Given the description of an element on the screen output the (x, y) to click on. 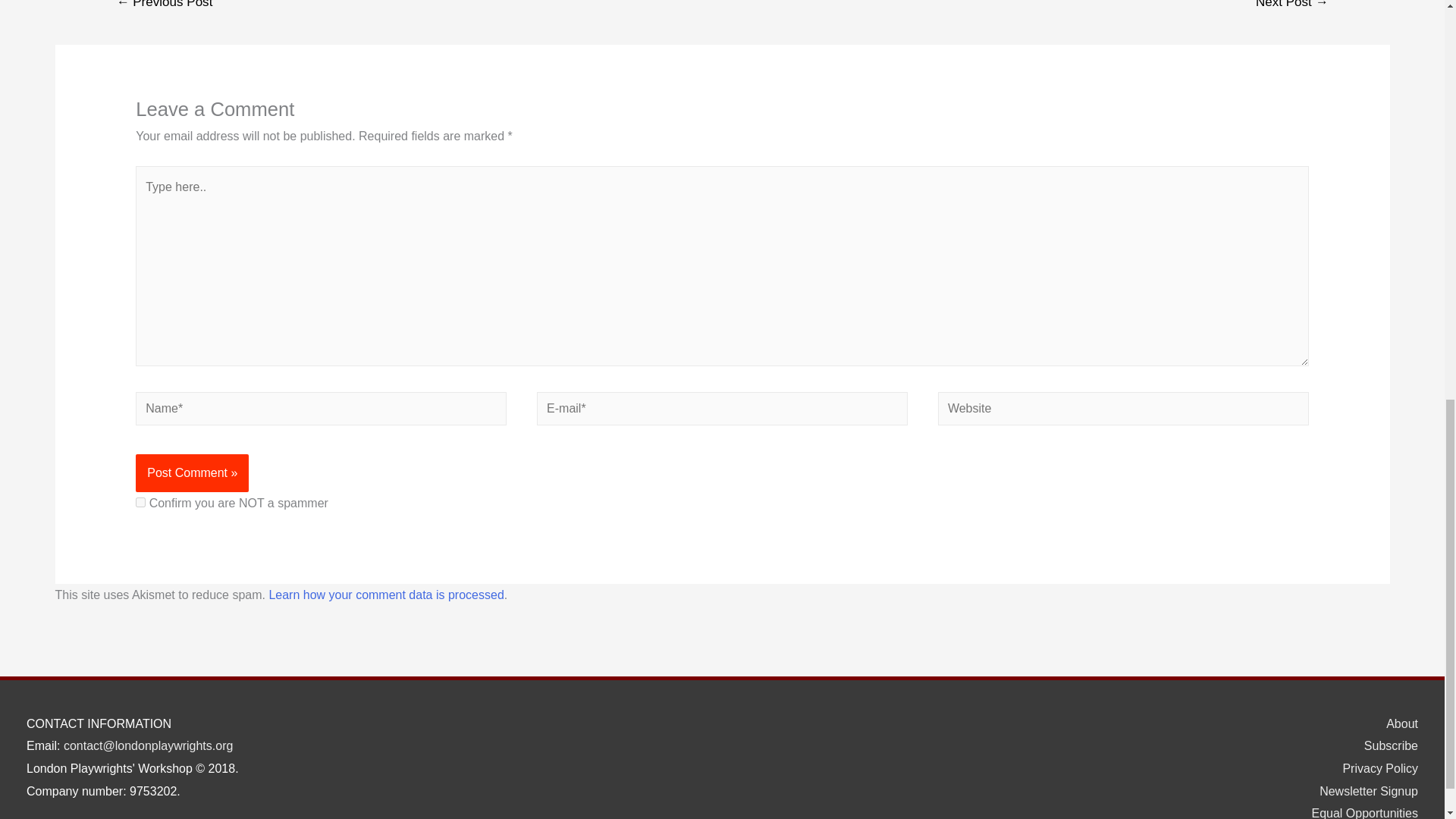
Equal Opportunities (1358, 812)
Privacy Policy (1374, 768)
on (140, 501)
Subscribe (1385, 745)
Learn how your comment data is processed (385, 594)
Newsletter Signup (1362, 790)
About (1396, 723)
